Given the description of an element on the screen output the (x, y) to click on. 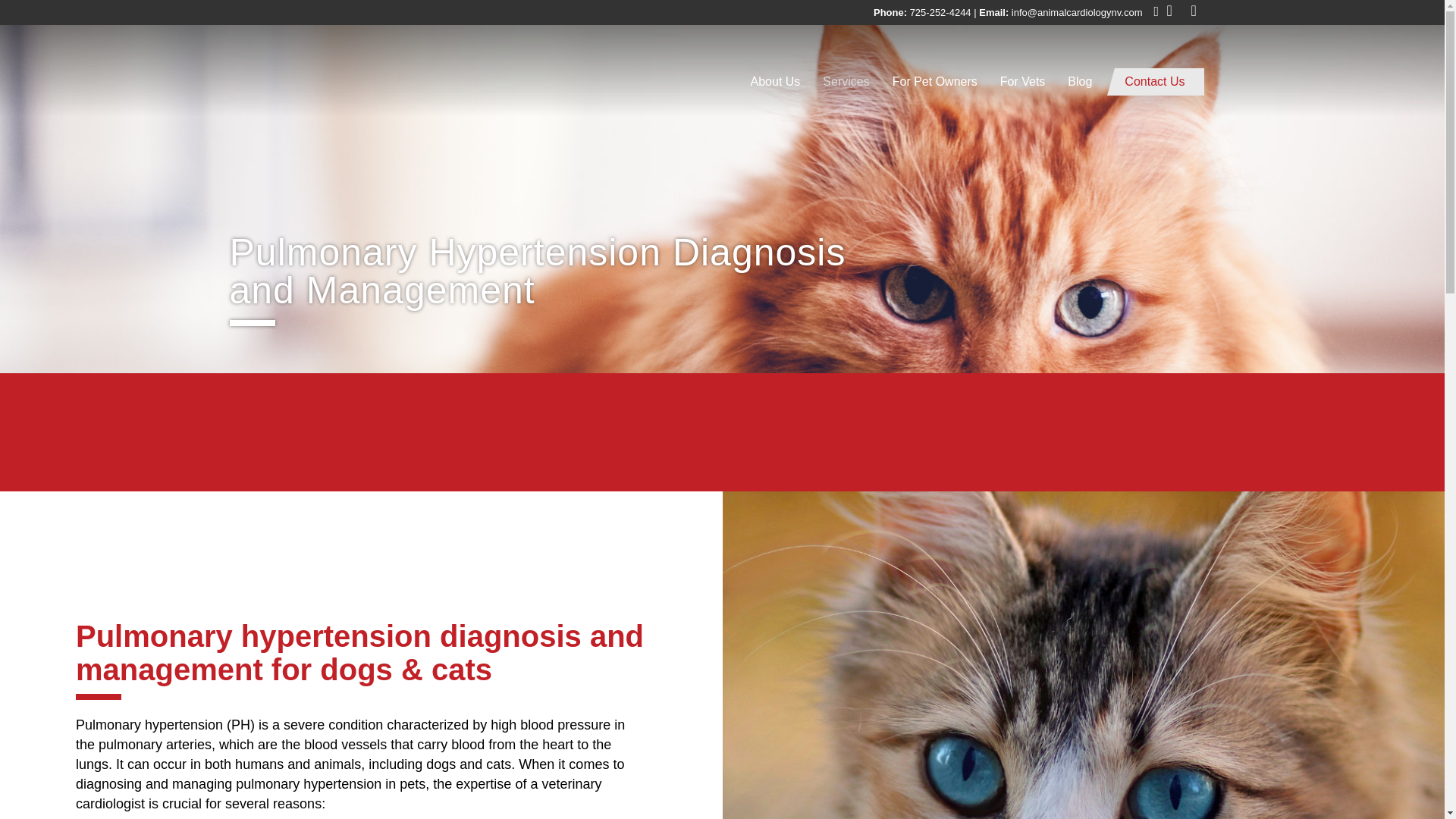
725-252-4244 (940, 12)
For Pet Owners (934, 81)
Contact Us (1158, 81)
